Given the description of an element on the screen output the (x, y) to click on. 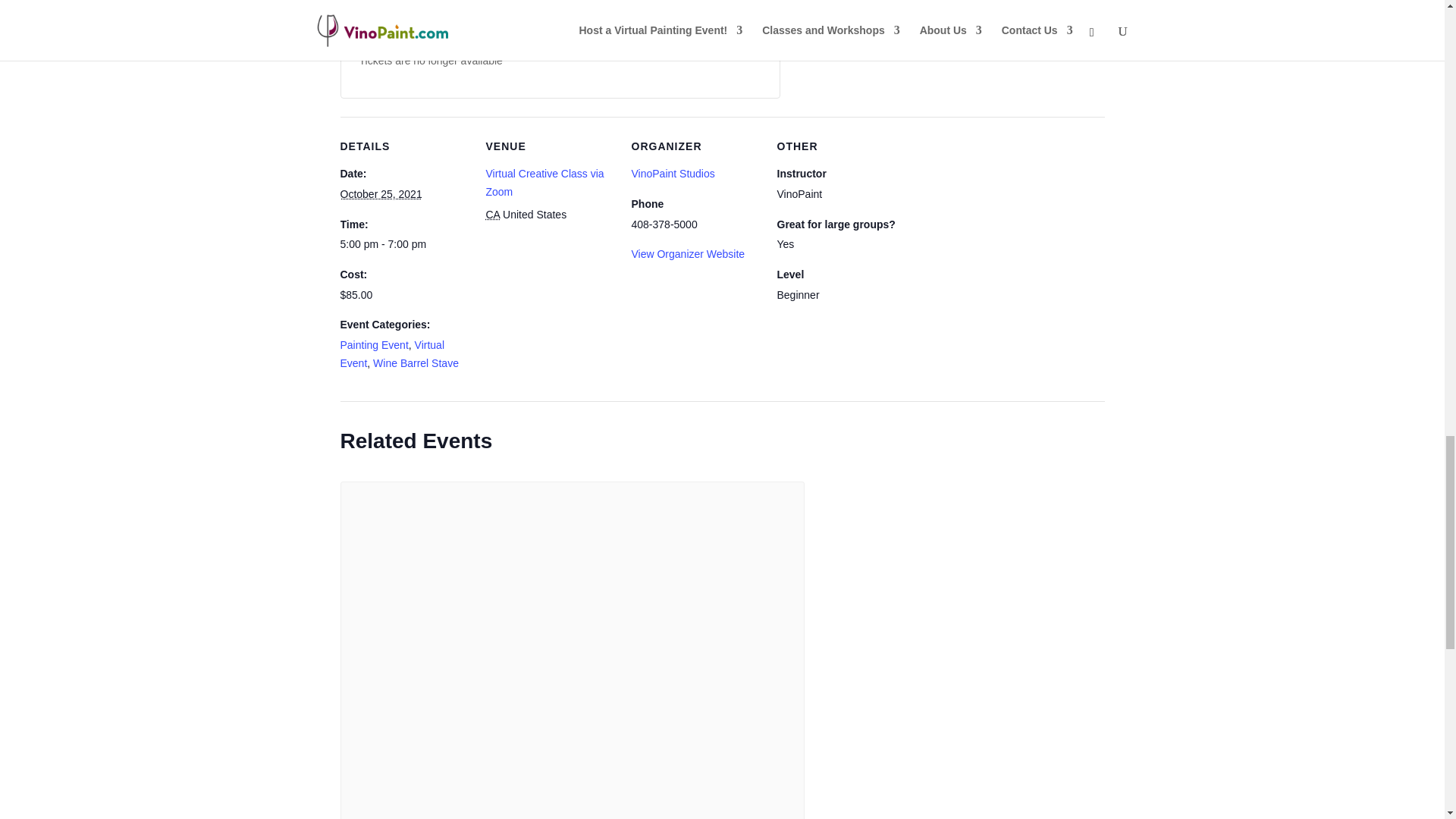
Virtual Creative Class via Zoom (544, 182)
2021-10-25 (380, 193)
Virtual Event (391, 354)
VinoPaint Studios (672, 173)
Wine Barrel Stave (415, 363)
VinoPaint Studios (672, 173)
California (491, 214)
2021-10-25 (403, 244)
Painting Event (373, 345)
